Given the description of an element on the screen output the (x, y) to click on. 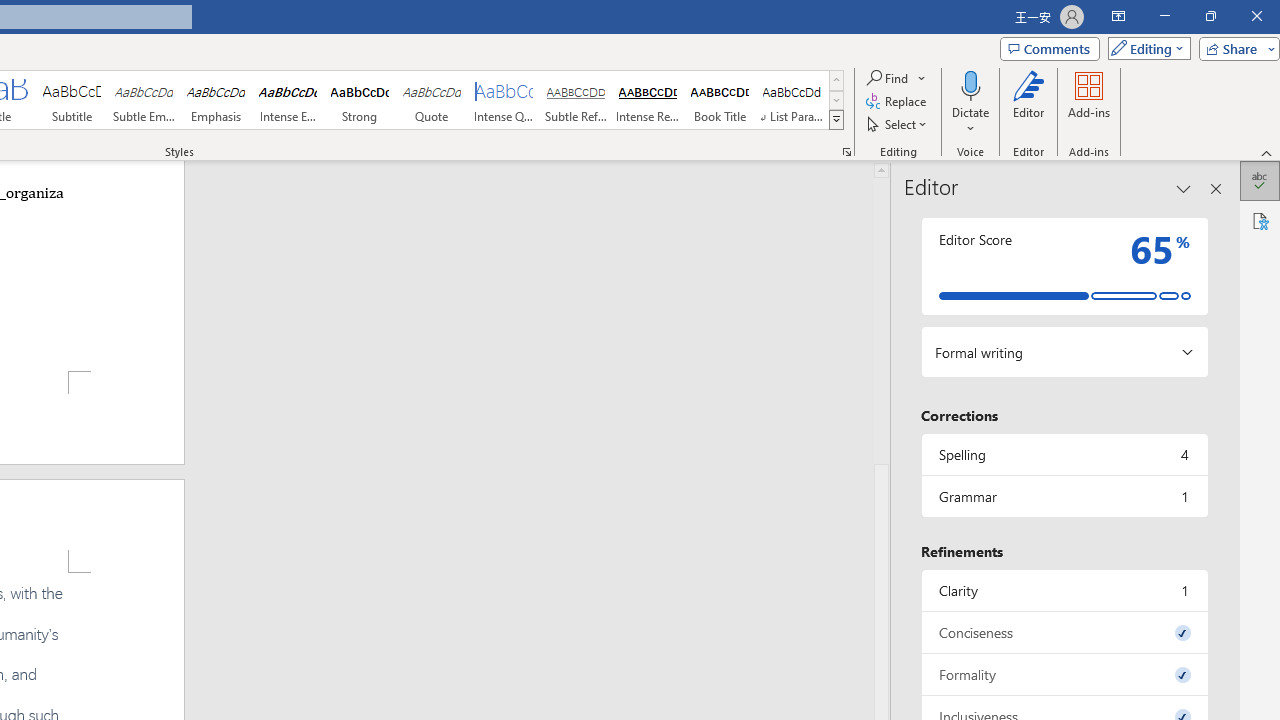
Intense Emphasis (287, 100)
Intense Reference (647, 100)
Subtle Reference (575, 100)
Editing (1144, 47)
Class: NetUIImage (836, 119)
Book Title (719, 100)
Formality, 0 issues. Press space or enter to review items. (1064, 673)
Close (1256, 16)
Task Pane Options (1183, 188)
Find (888, 78)
Editor (1028, 102)
Quote (431, 100)
